Given the description of an element on the screen output the (x, y) to click on. 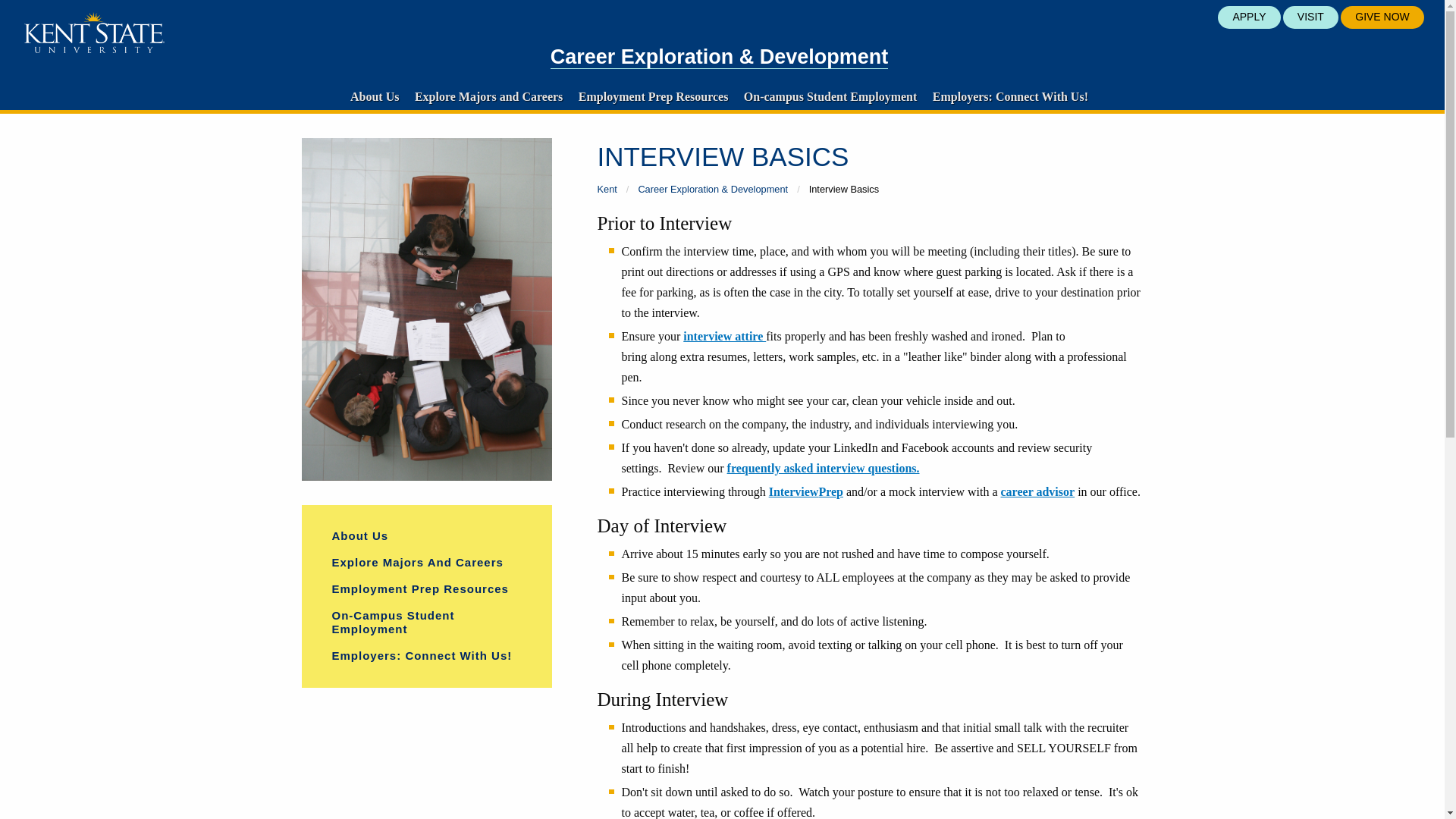
Kent State University logo (94, 32)
APPLY (1248, 16)
VISIT (1310, 16)
GIVE NOW (1381, 16)
About Us (373, 96)
Explore Majors and Careers (489, 96)
